Given the description of an element on the screen output the (x, y) to click on. 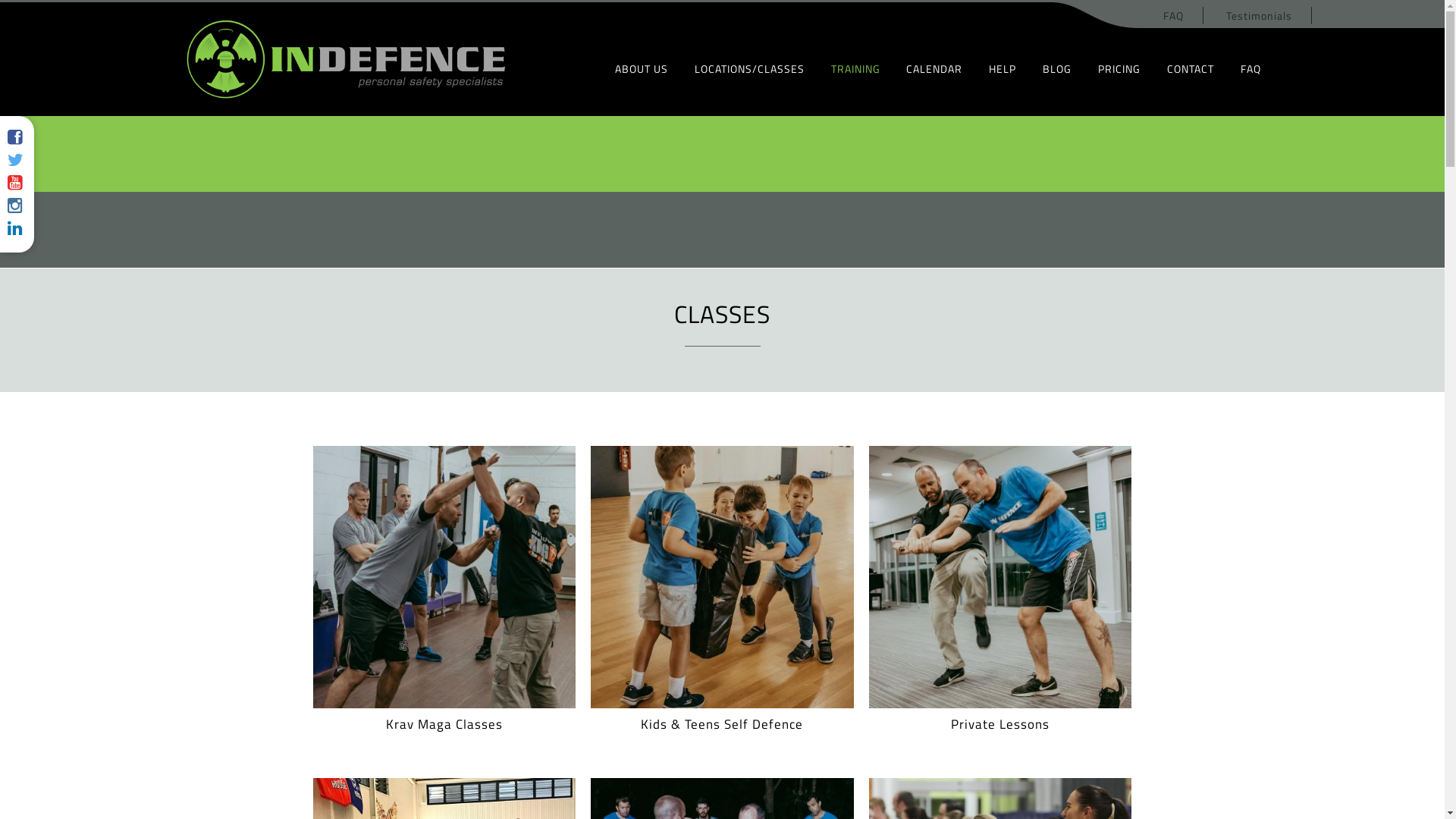
Kids & Teens Self Defence Element type: text (721, 648)
HELP Element type: text (1002, 68)
Testimonials Element type: text (1259, 15)
ABOUT US Element type: text (641, 68)
BLOG Element type: text (1056, 68)
FAQ Element type: text (1173, 15)
CALENDAR Element type: text (934, 68)
TRAINING Element type: text (855, 68)
Private Lessons Element type: text (1000, 648)
Krav Maga Classes Element type: text (443, 648)
PRICING Element type: text (1119, 68)
LOCATIONS/CLASSES Element type: text (749, 68)
FAQ Element type: text (1250, 68)
CONTACT Element type: text (1190, 68)
